Given the description of an element on the screen output the (x, y) to click on. 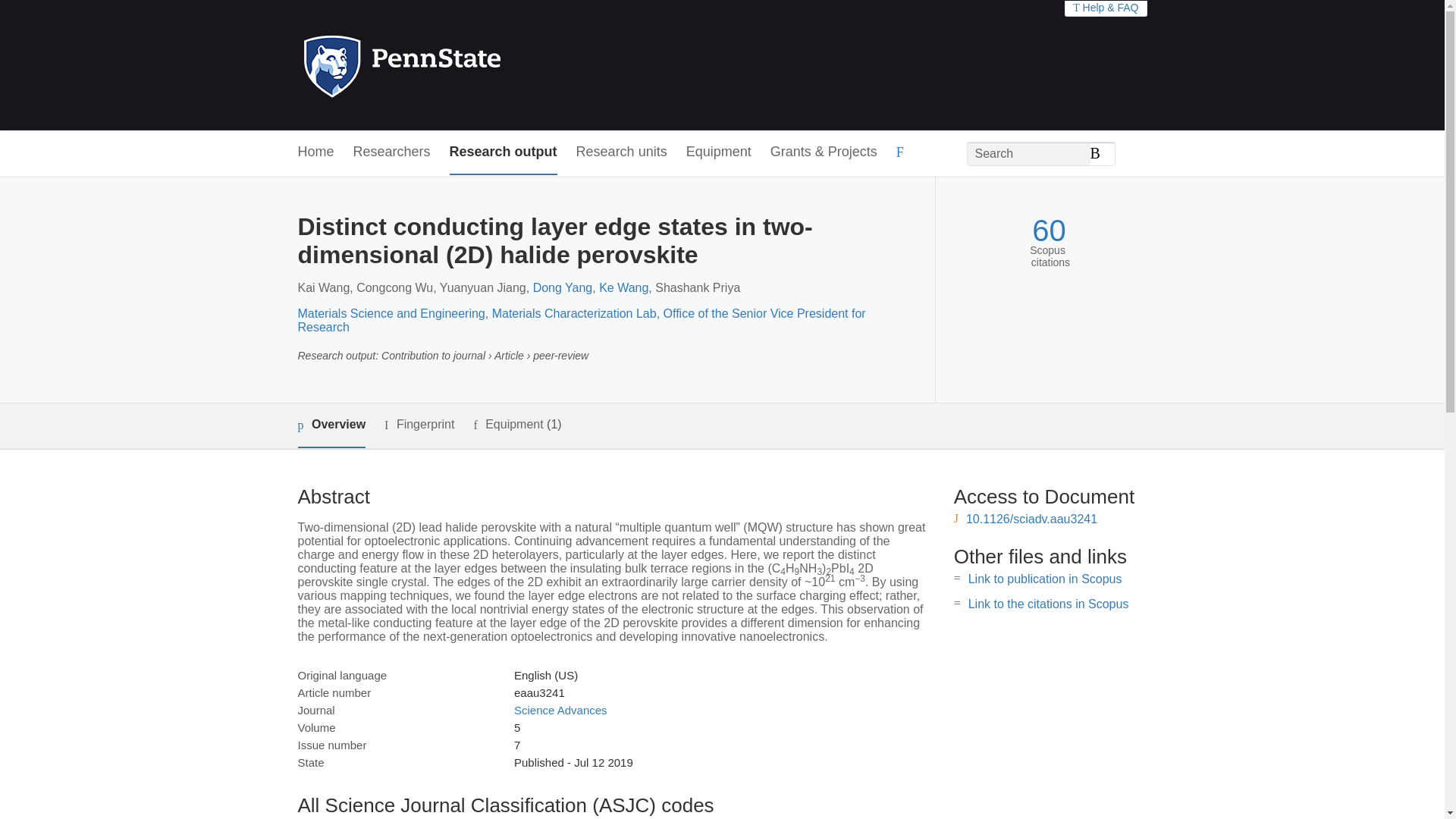
Overview (331, 425)
Dong Yang (562, 287)
60 (1048, 230)
Penn State Home (467, 65)
Science Advances (560, 709)
Researchers (391, 152)
Ke Wang (622, 287)
Research output (503, 152)
Equipment (718, 152)
Fingerprint (419, 424)
Materials Science and Engineering (390, 313)
Research units (621, 152)
Link to publication in Scopus (1045, 578)
Office of the Senior Vice President for Research (580, 320)
